Given the description of an element on the screen output the (x, y) to click on. 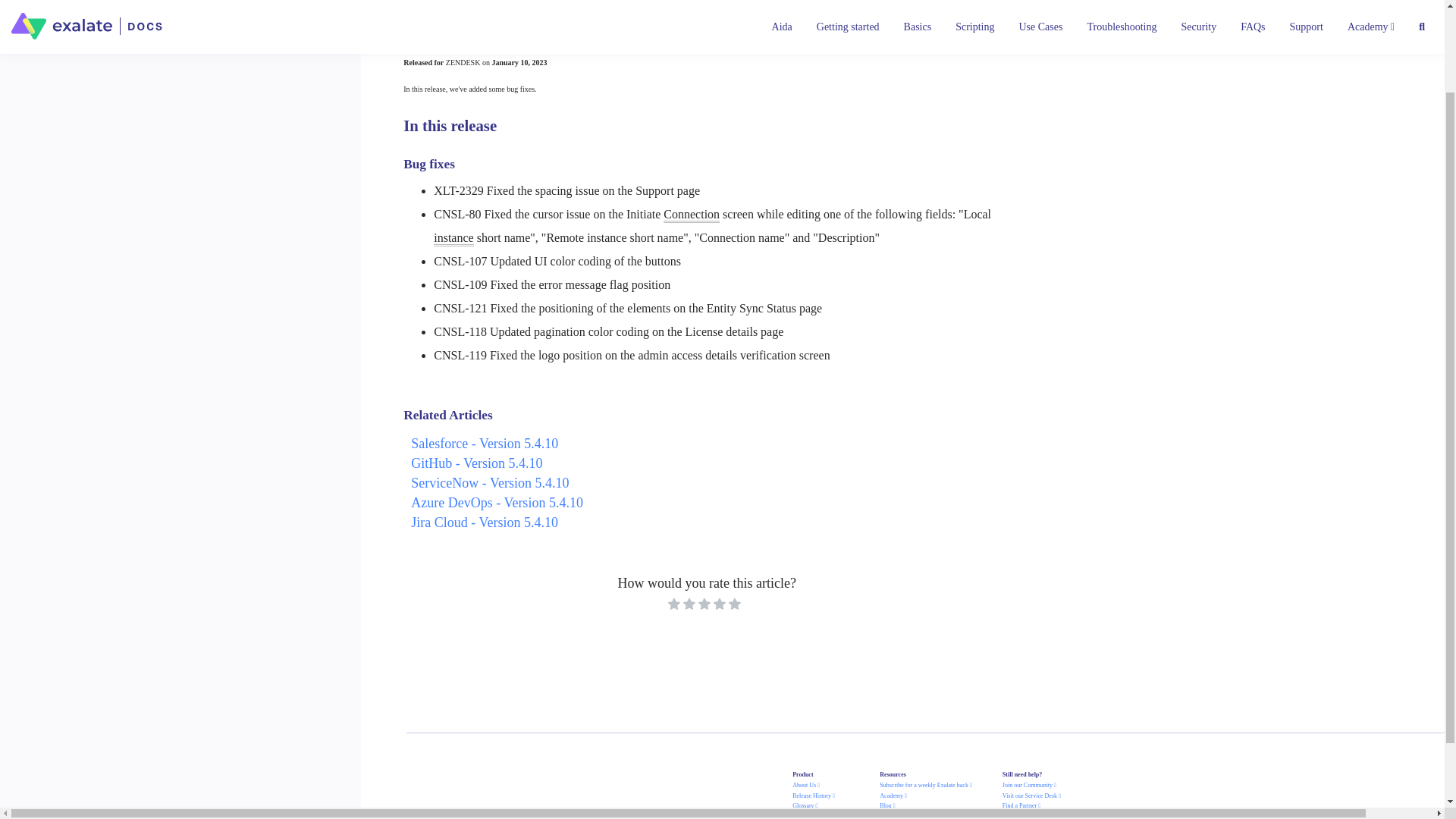
Download PDF (615, 5)
